Given the description of an element on the screen output the (x, y) to click on. 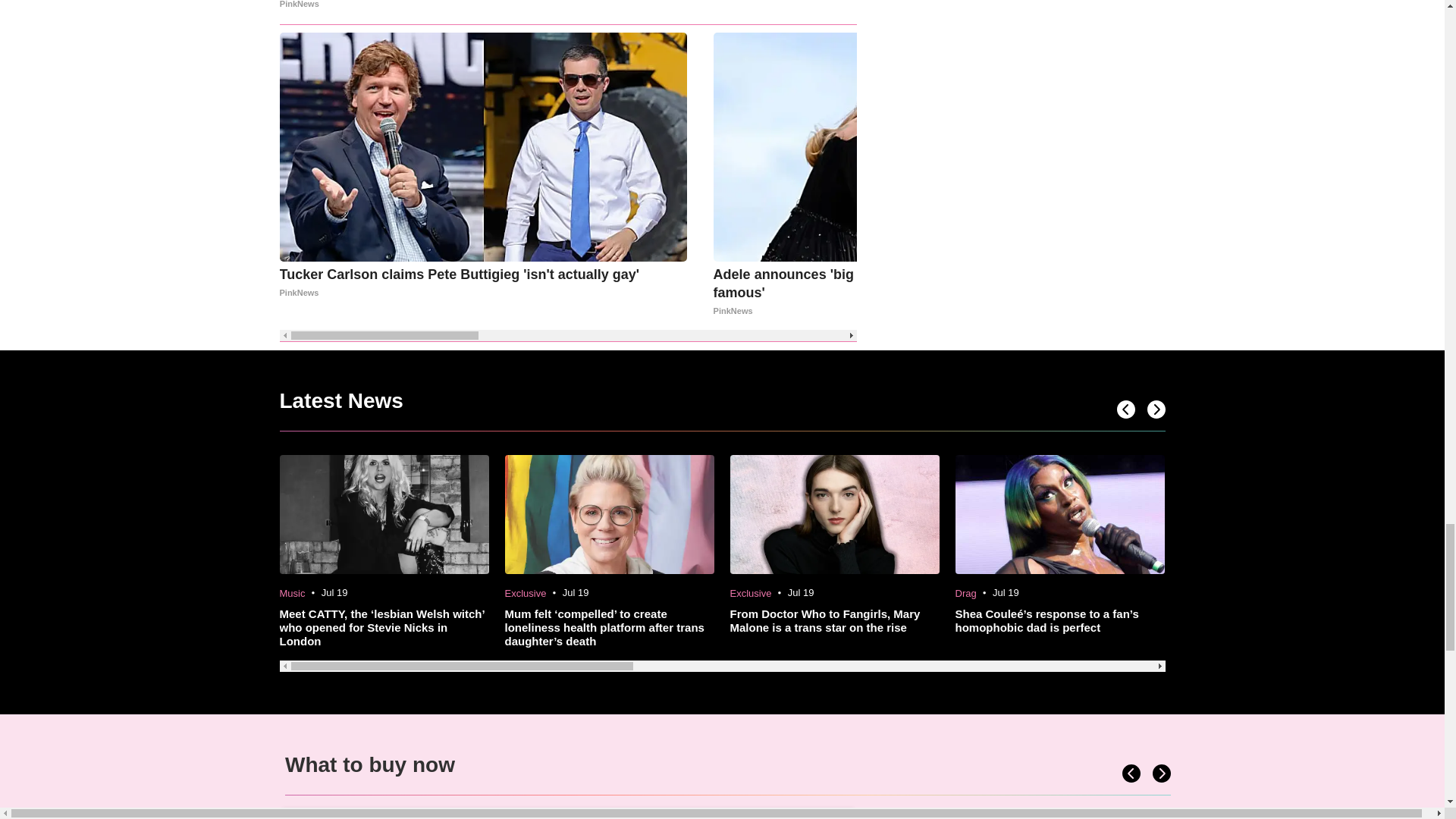
Tucker Carlson claims Pete Buttigieg 'isn't actually gay' (483, 283)
